Given the description of an element on the screen output the (x, y) to click on. 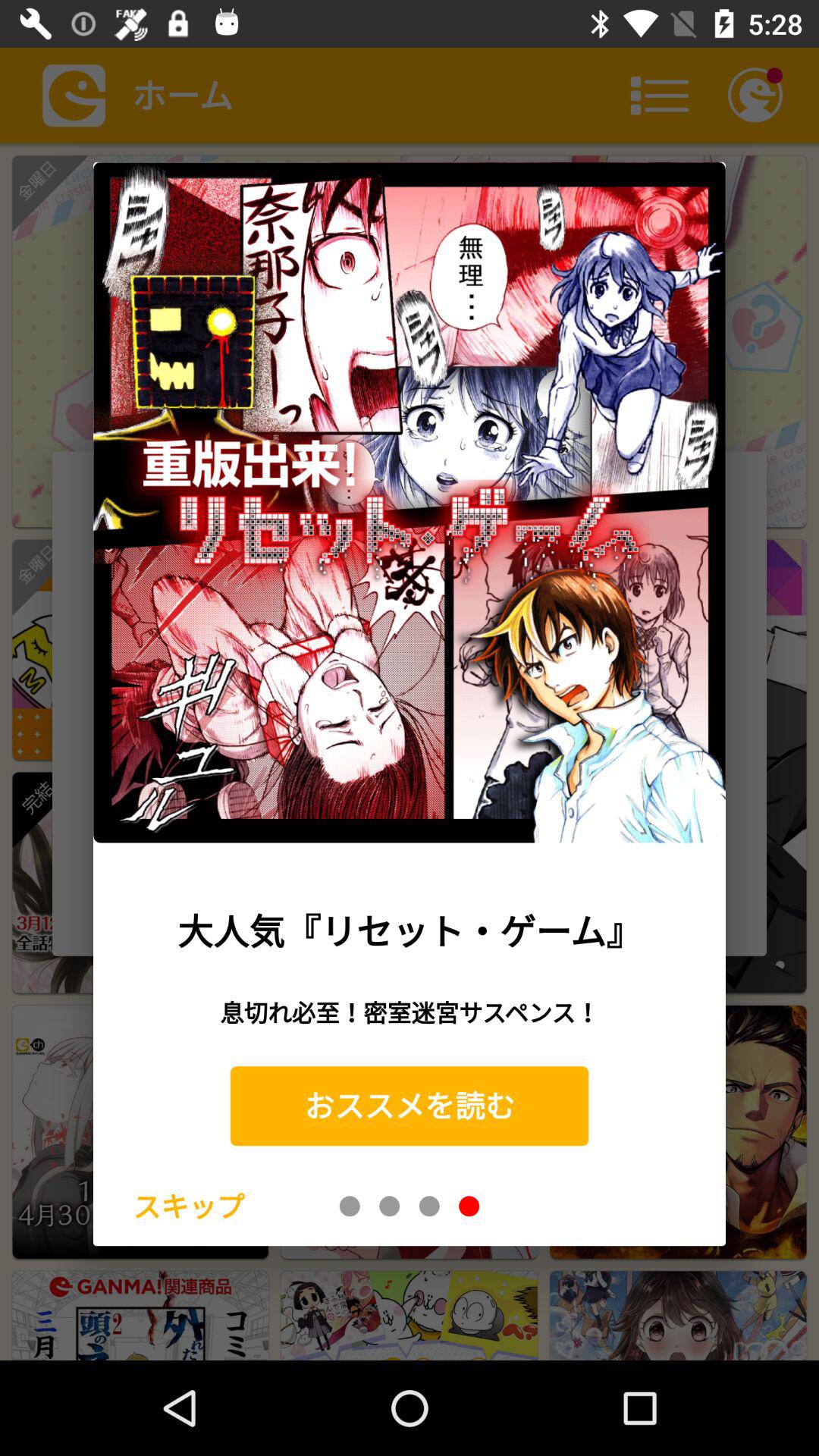
go to previous (429, 1206)
